Given the description of an element on the screen output the (x, y) to click on. 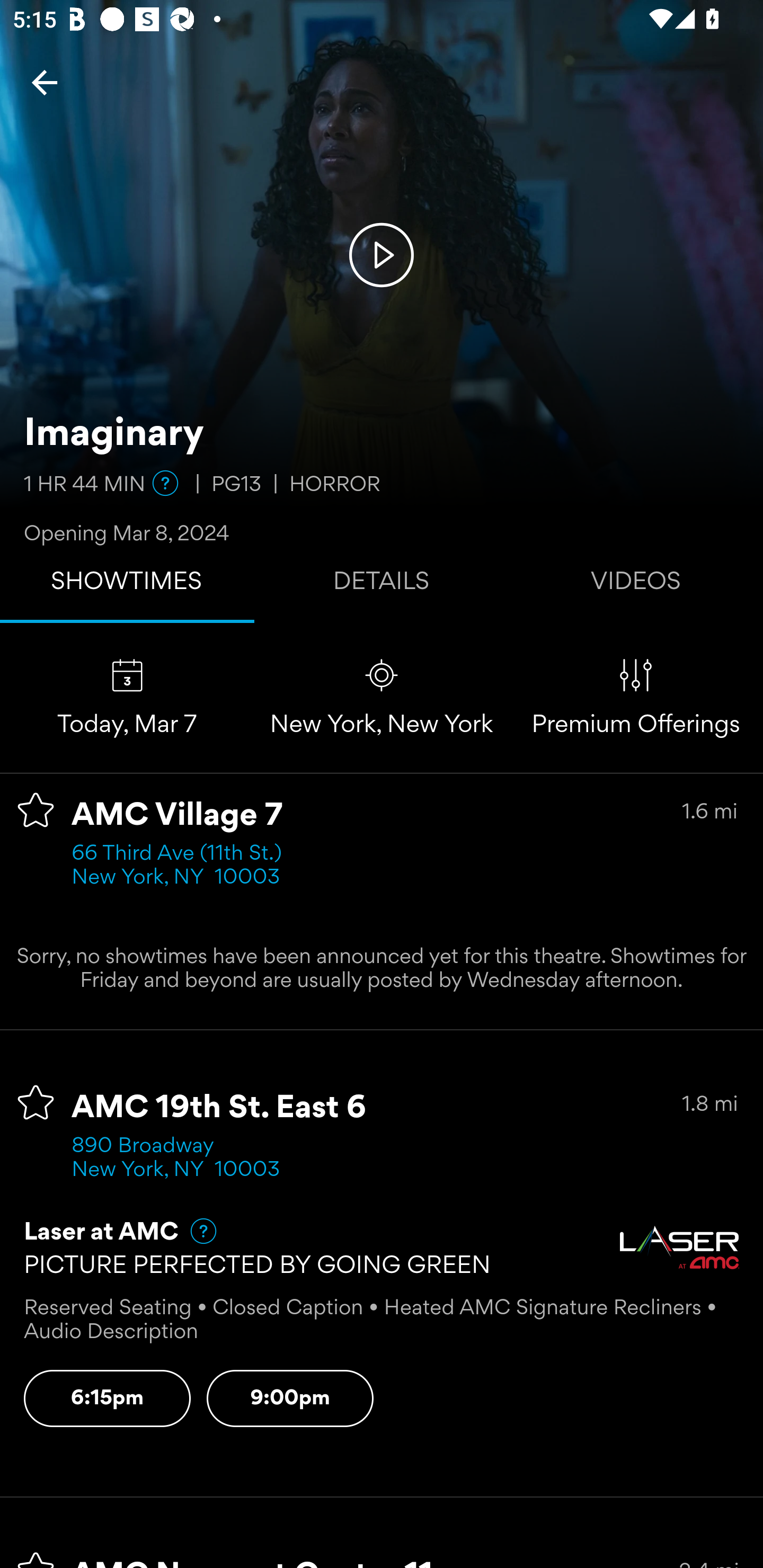
Back (44, 82)
Play (381, 254)
Help (165, 482)
SHOWTIMES
Tab 1 of 3 (127, 584)
DETAILS
Tab 2 of 3 (381, 584)
VIDEOS
Tab 3 of 3 (635, 584)
Change selected day
Today, Mar 7 (127, 697)
Change location
New York, New York (381, 697)
Premium Offerings
Premium Offerings (635, 697)
AMC Village 7 (177, 816)
66 Third Ave (11th St.)  
New York, NY  10003 (182, 866)
AMC 19th St. East 6 (219, 1108)
890 Broadway  
New York, NY  10003 (176, 1158)
Help (195, 1230)
